Given the description of an element on the screen output the (x, y) to click on. 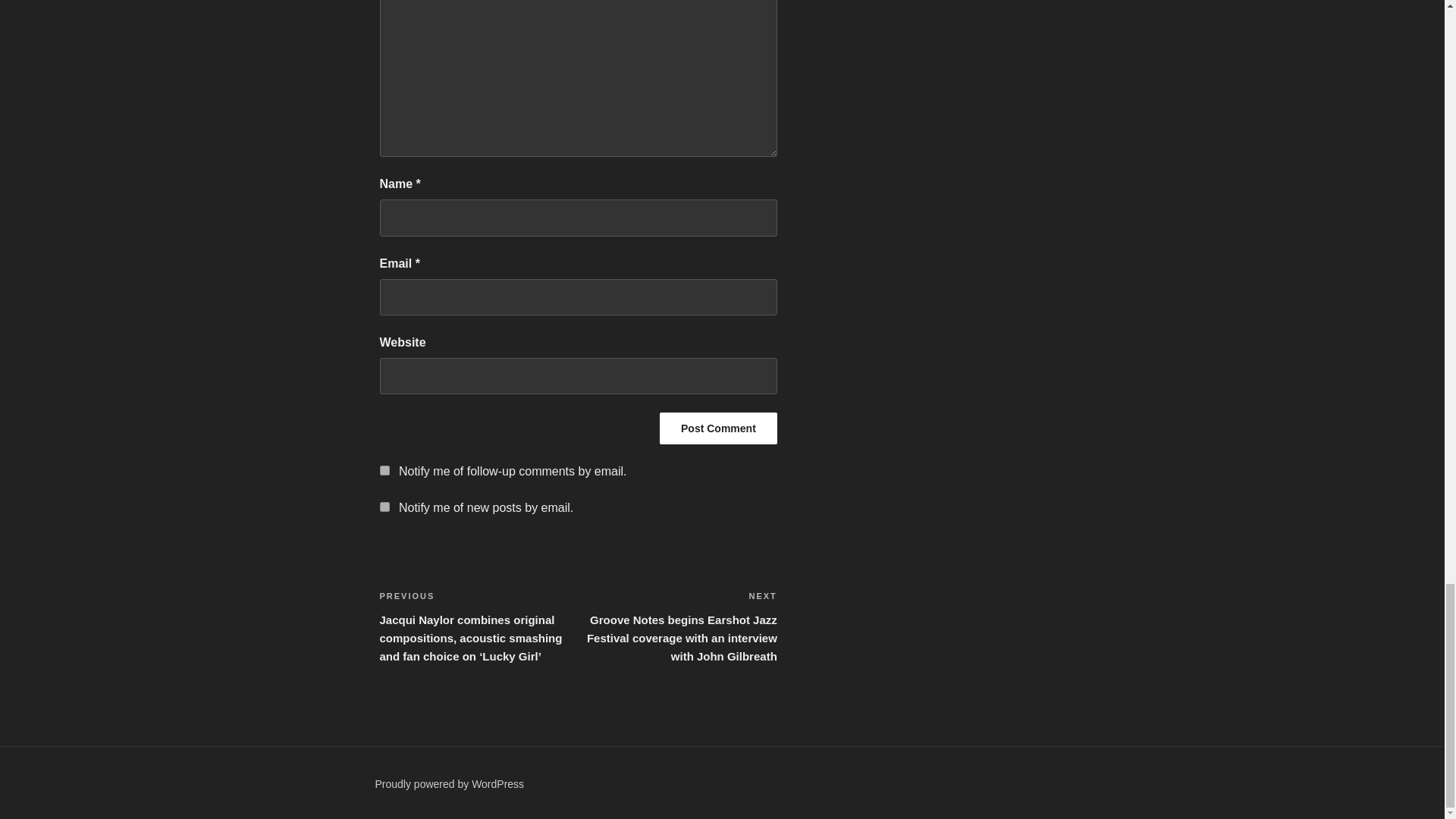
subscribe (383, 506)
Post Comment (718, 428)
Post Comment (718, 428)
subscribe (383, 470)
Proudly powered by WordPress (449, 784)
